Given the description of an element on the screen output the (x, y) to click on. 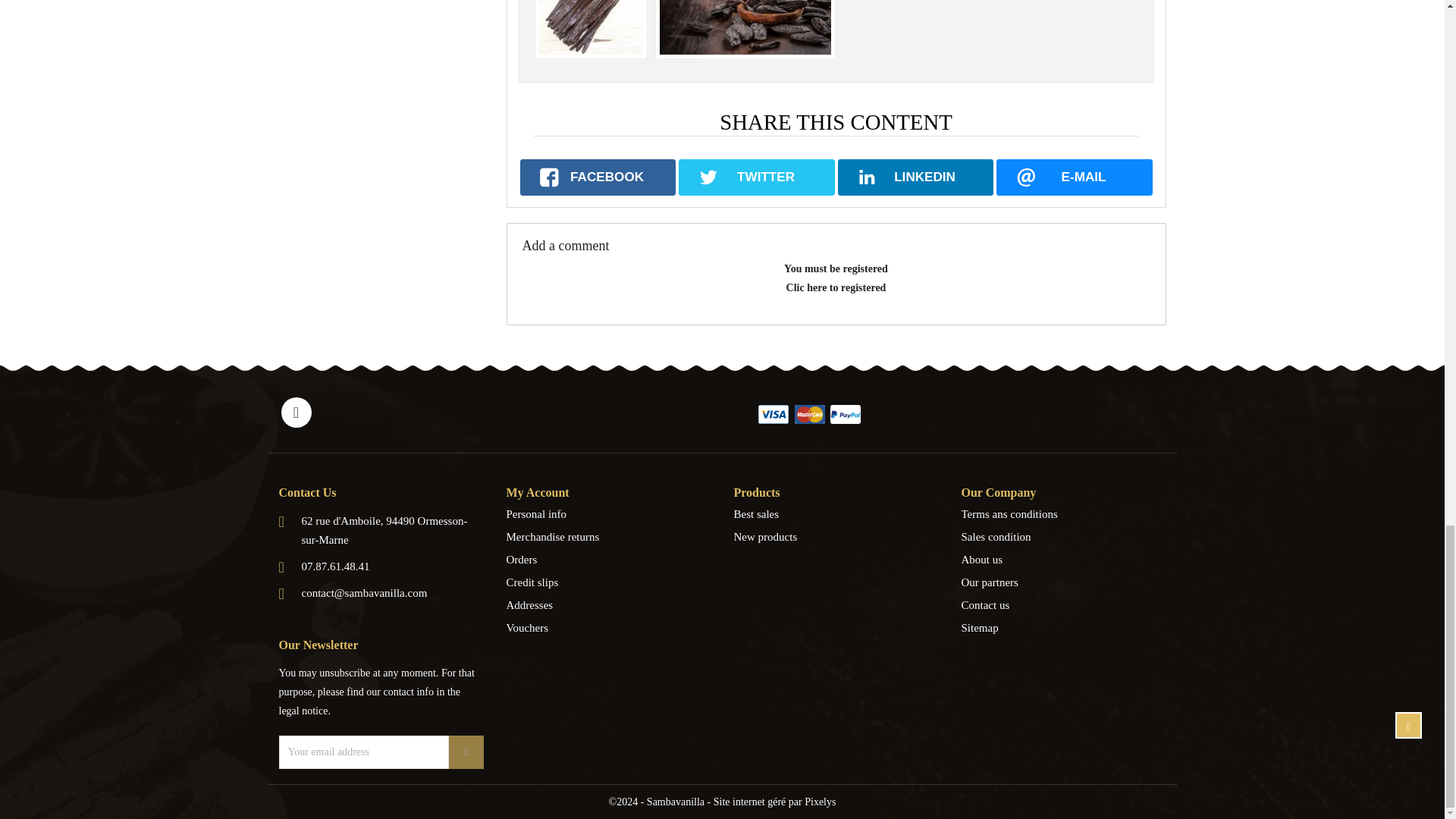
Use our form to contact us (1063, 604)
Addresses (608, 604)
Our best sales (836, 513)
Terms ans conditions (1063, 513)
Merchandise returns (608, 536)
Our new products (836, 536)
Orders (608, 558)
Vouchers (608, 627)
Facebook (296, 412)
Credit slips (608, 581)
Personal info (608, 513)
Our sales condition (1063, 536)
